Given the description of an element on the screen output the (x, y) to click on. 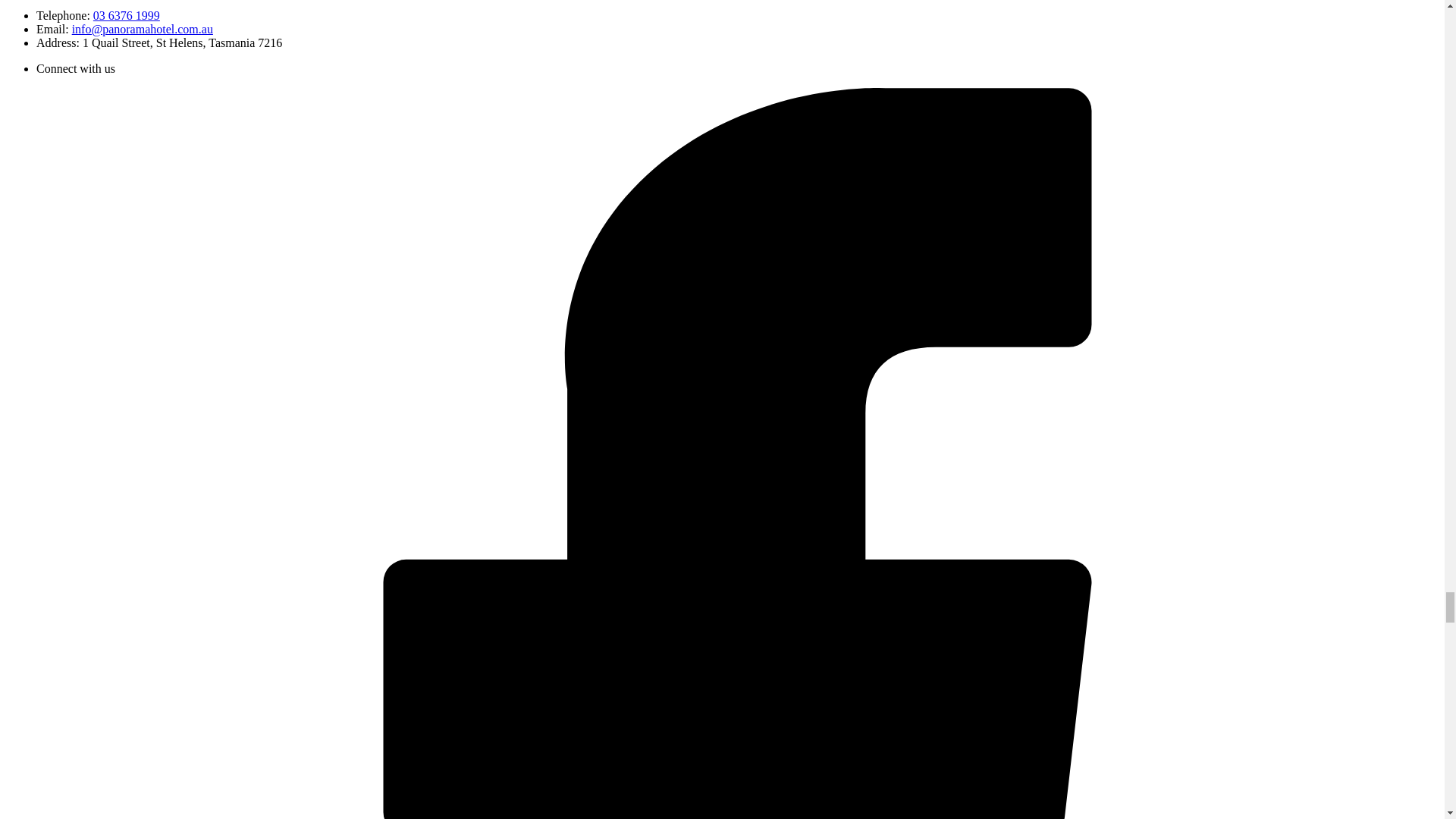
Email Us (141, 29)
Call Us (126, 15)
